Given the description of an element on the screen output the (x, y) to click on. 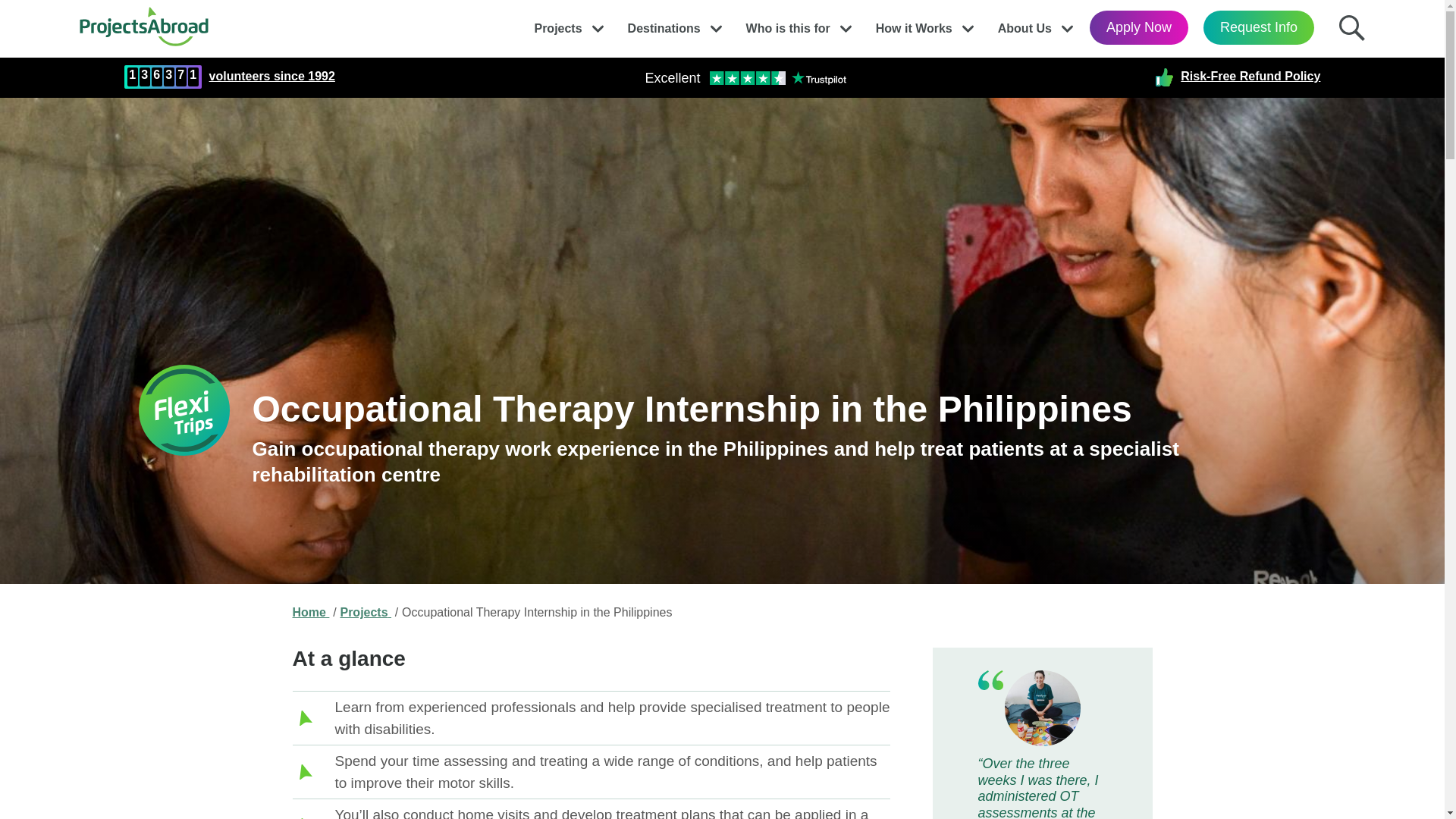
Projects (557, 24)
Customer reviews powered by Trustpilot (745, 77)
